Given the description of an element on the screen output the (x, y) to click on. 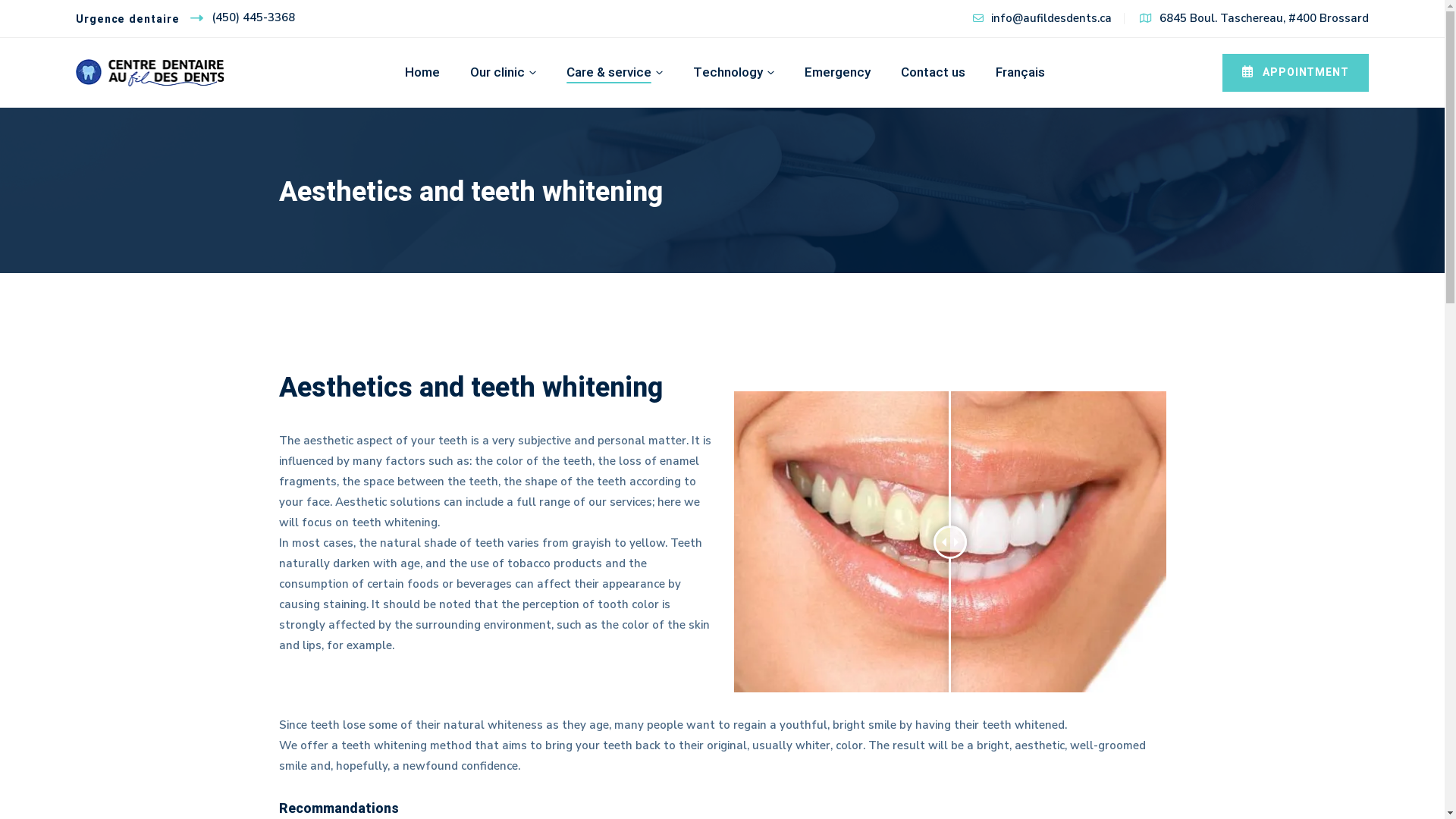
Urgence dentaire Element type: text (139, 18)
APPOINTMENT Element type: text (1295, 72)
Home Element type: text (421, 71)
Contact us Element type: text (932, 71)
Technology Element type: text (733, 71)
Care & service Element type: text (614, 71)
Our clinic Element type: text (503, 71)
Emergency Element type: text (837, 71)
info@aufildesdents.ca Element type: text (1041, 17)
